Given the description of an element on the screen output the (x, y) to click on. 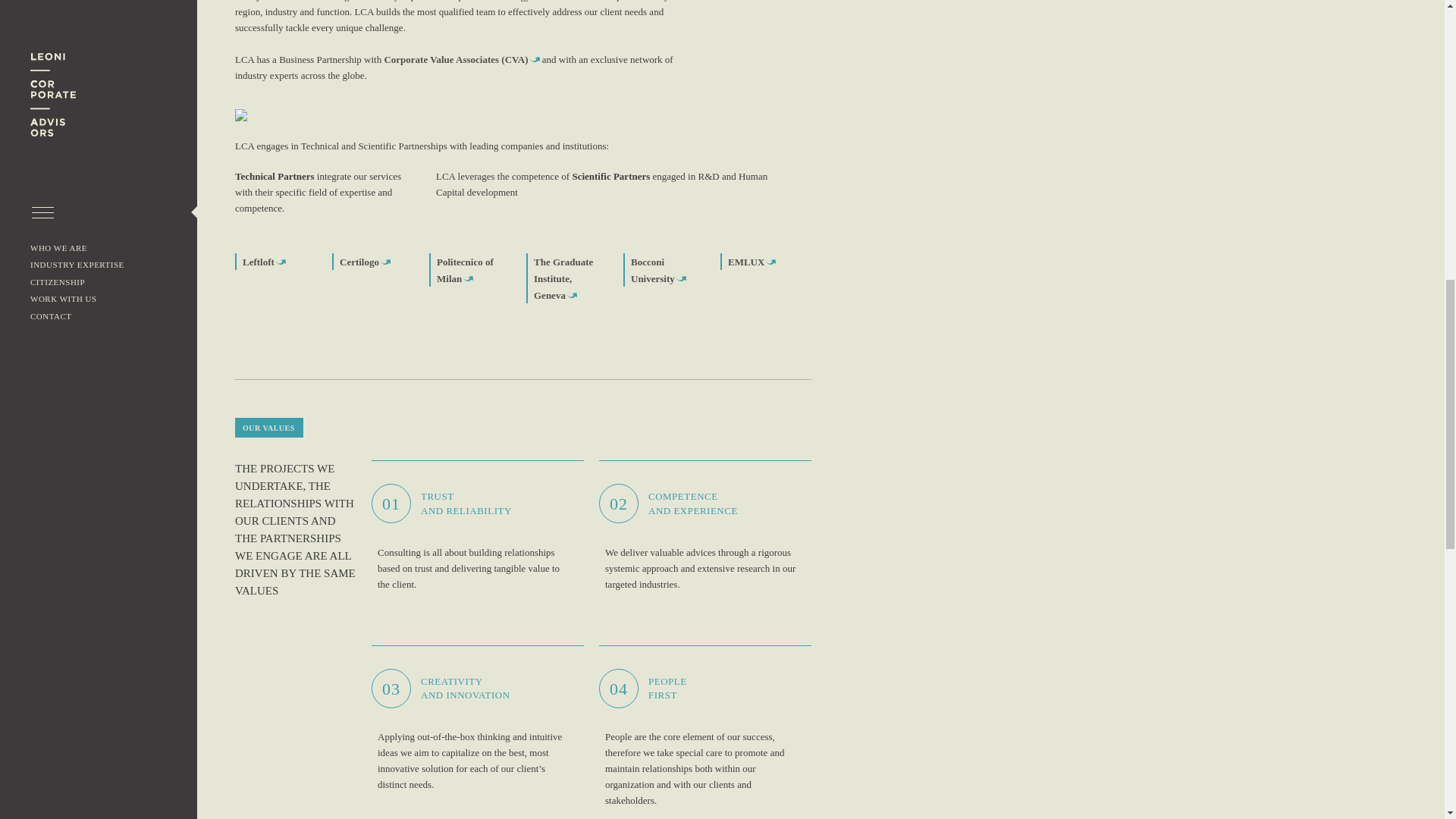
Bocconi University (657, 270)
Certilogo (364, 261)
EMLUX (752, 261)
Politecnico of Milan (464, 270)
The Graduate Institute, Geneva (563, 278)
Leftloft (264, 261)
